Given the description of an element on the screen output the (x, y) to click on. 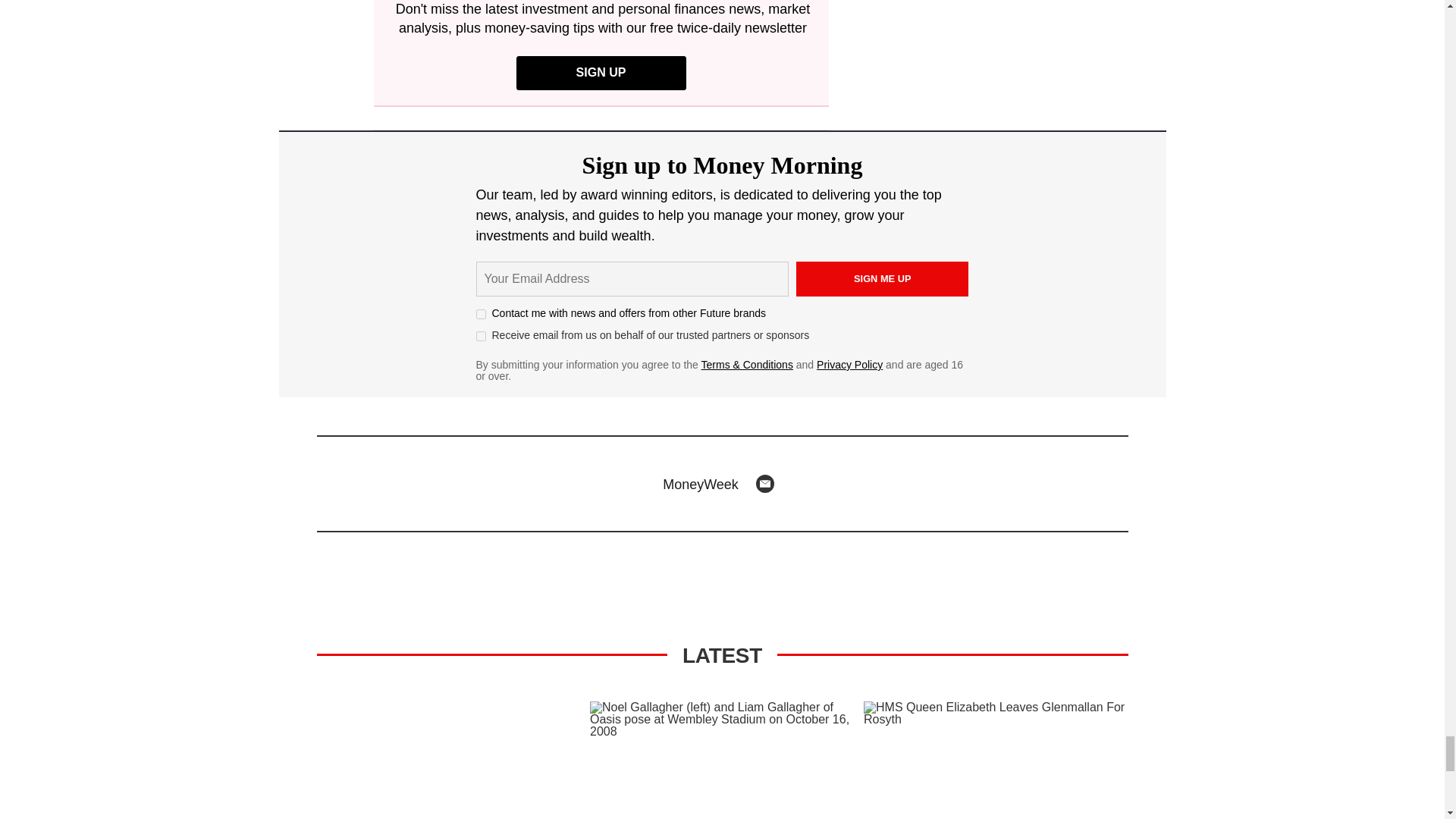
on (481, 336)
on (481, 314)
Sign me up (882, 278)
